Given the description of an element on the screen output the (x, y) to click on. 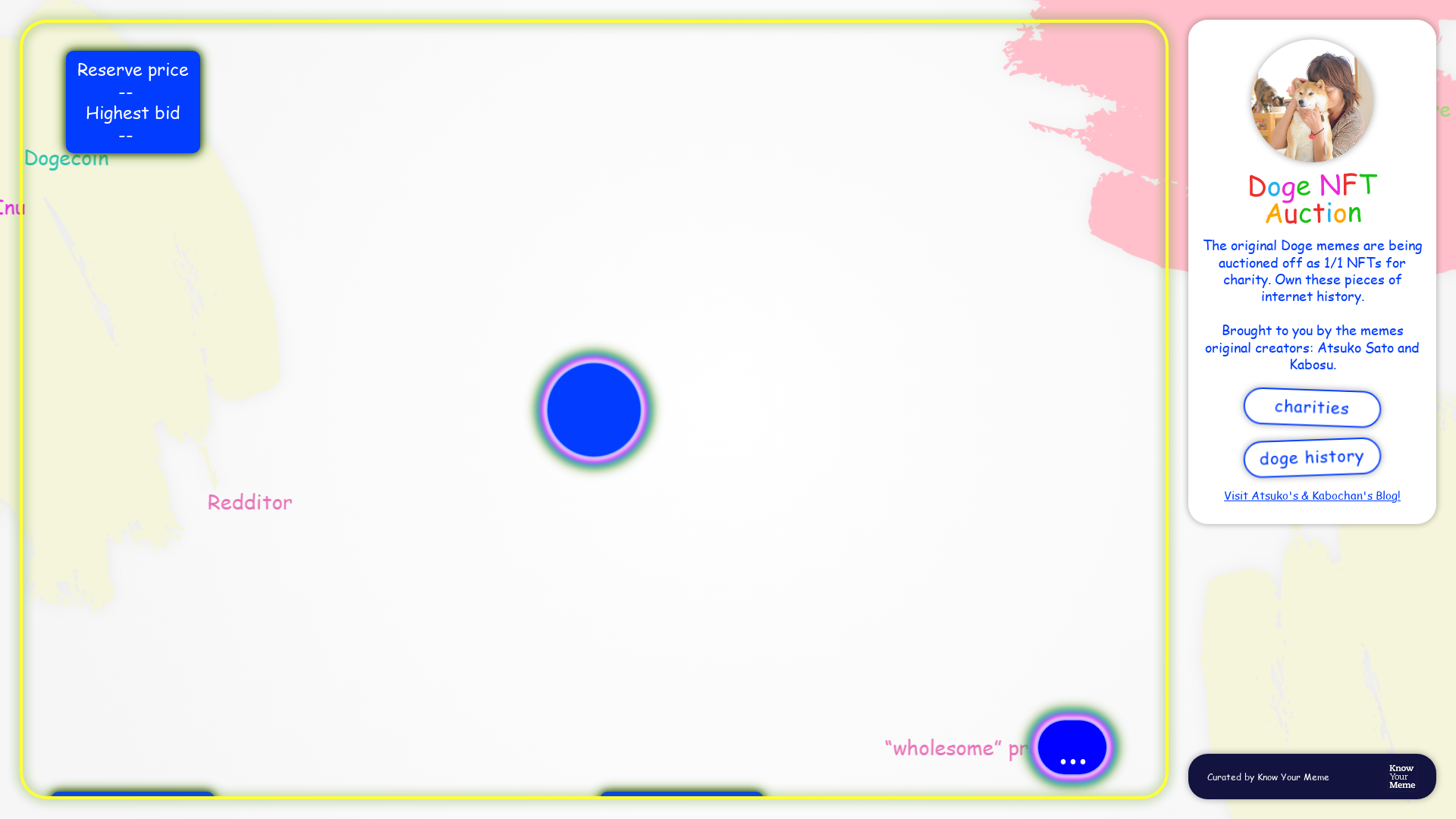
doge history Element type: text (1314, 456)
charities Element type: text (1314, 405)
Visit Atsuko's & Kabochan's Blog! Element type: text (1311, 494)
...
Reserve price
--
Highest bid
-- Element type: text (593, 409)
